Given the description of an element on the screen output the (x, y) to click on. 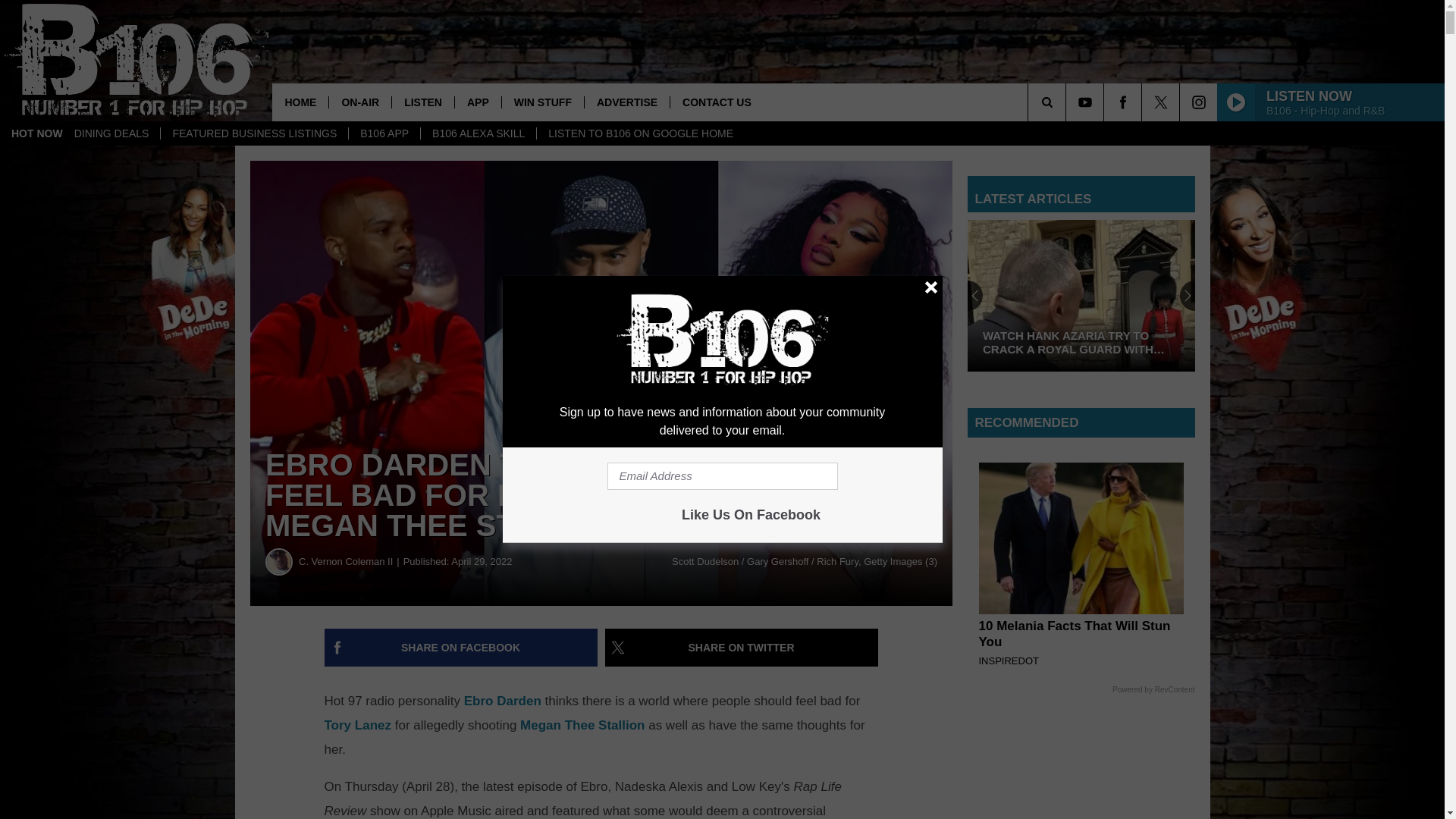
Share on Twitter (741, 647)
APP (477, 102)
HOME (300, 102)
Share on Facebook (460, 647)
LISTEN TO B106 ON GOOGLE HOME (639, 133)
LISTEN (422, 102)
ON-AIR (360, 102)
B106 APP (383, 133)
B106 ALEXA SKILL (477, 133)
Email Address (722, 475)
ADVERTISE (626, 102)
WIN STUFF (541, 102)
FEATURED BUSINESS LISTINGS (253, 133)
SEARCH (1068, 102)
CONTACT US (715, 102)
